Given the description of an element on the screen output the (x, y) to click on. 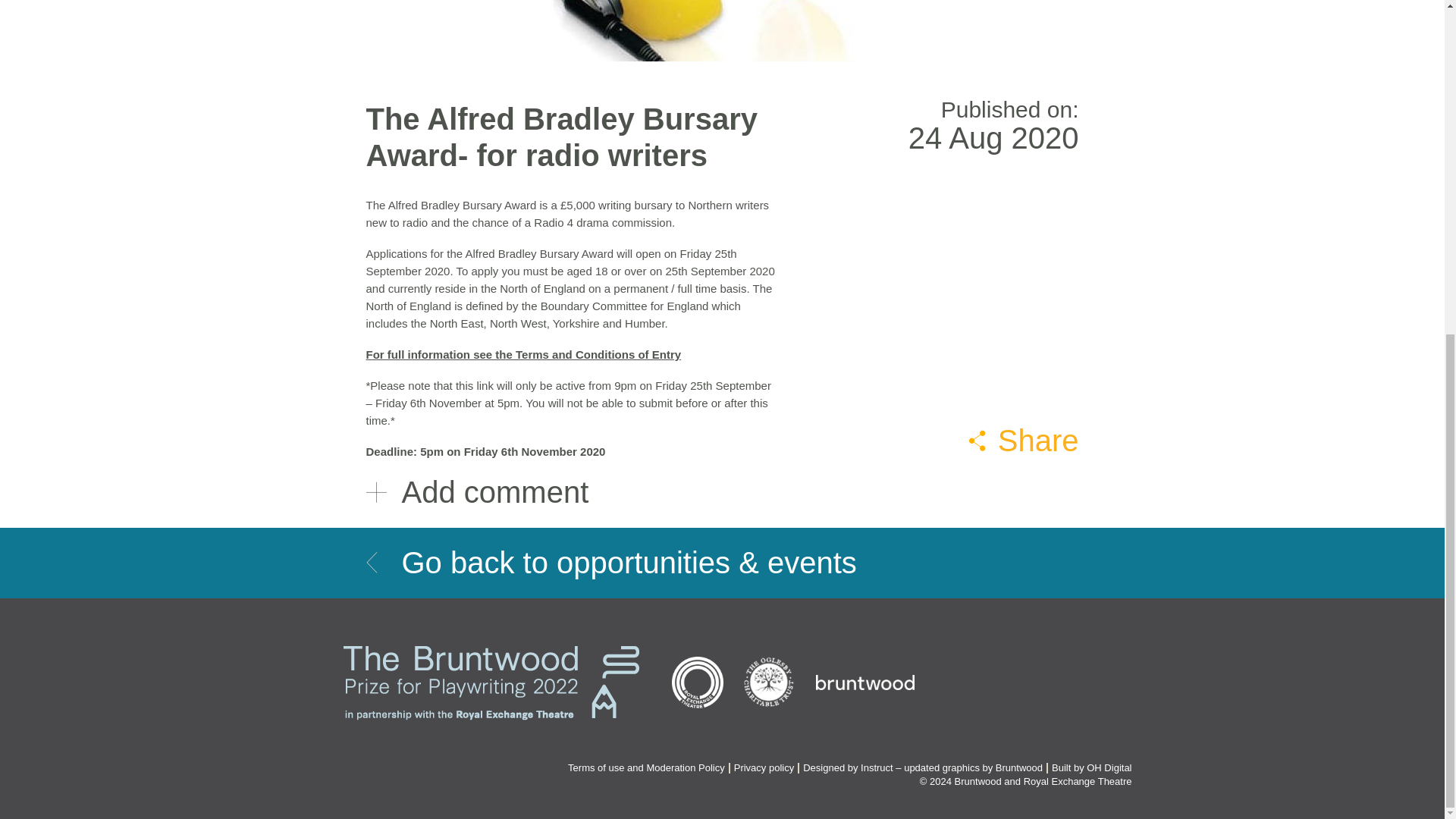
Add comment (721, 492)
Terms of use and Moderation Policy (646, 767)
Built by OH Digital (1091, 767)
For full information see the Terms and Conditions of Entry (523, 354)
Share (1023, 440)
Privacy policy (763, 767)
